Given the description of an element on the screen output the (x, y) to click on. 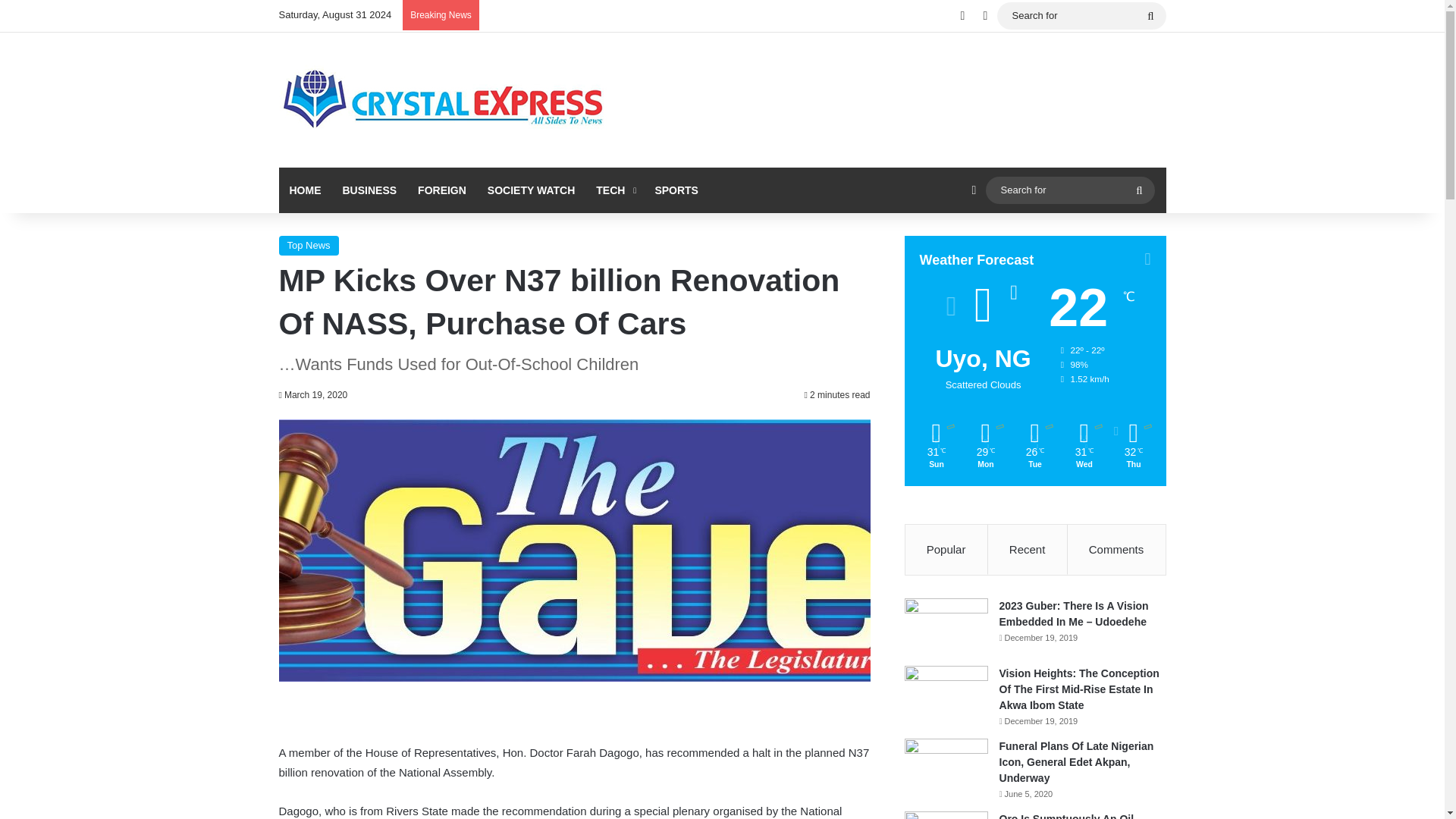
Search for (1069, 189)
Search for (1080, 15)
HOME (305, 189)
Top News (309, 245)
SPORTS (676, 189)
SOCIETY WATCH (531, 189)
Search for (1139, 189)
FOREIGN (442, 189)
CrystalExpress (444, 100)
TECH (614, 189)
